Given the description of an element on the screen output the (x, y) to click on. 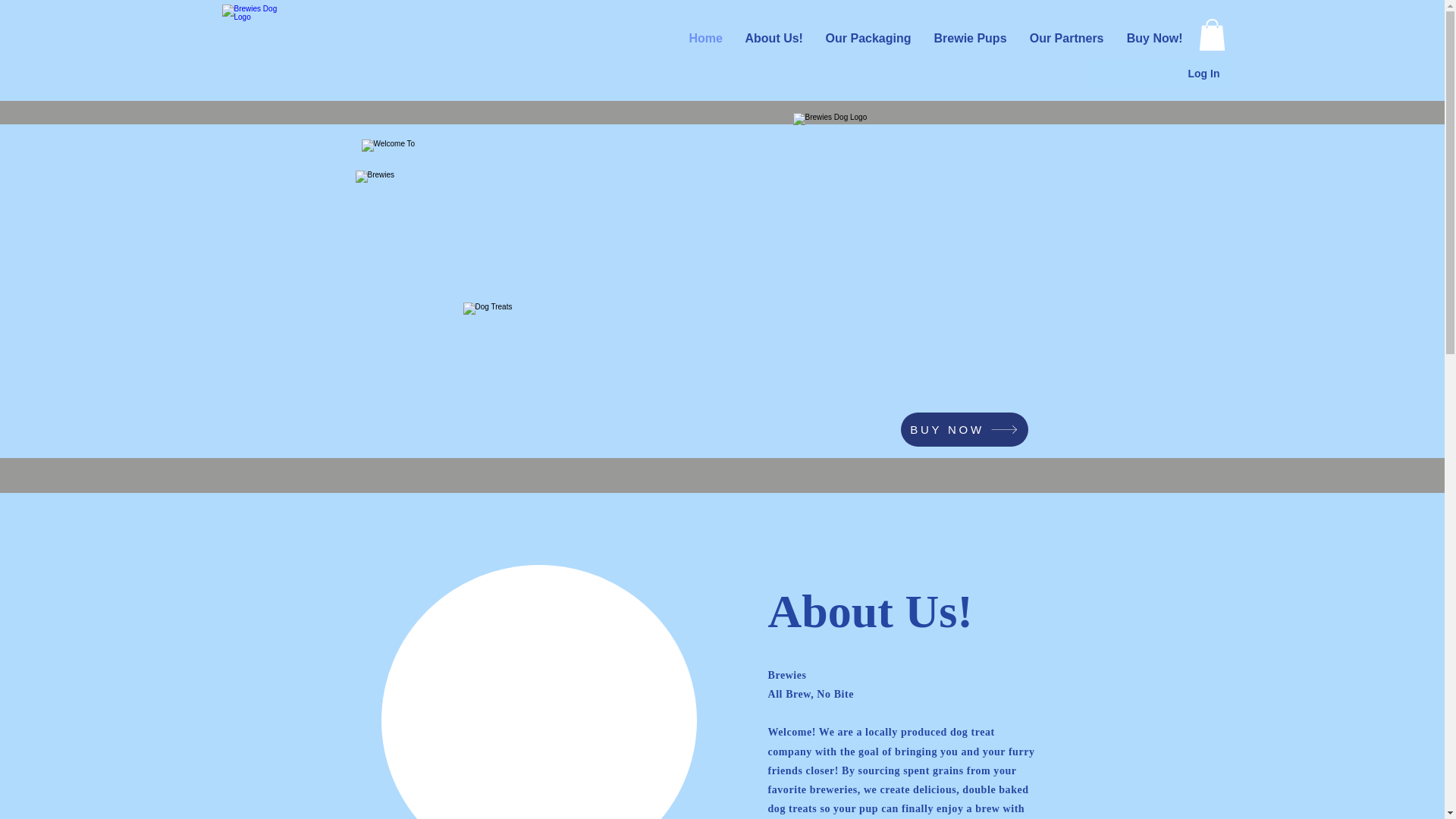
Brewie Pups (977, 38)
About Us! (789, 38)
Buy Now! (1156, 38)
Our Packaging (879, 38)
Log In (1203, 74)
BUY NOW (964, 429)
Our Partners (1070, 38)
Home (722, 38)
